Given the description of an element on the screen output the (x, y) to click on. 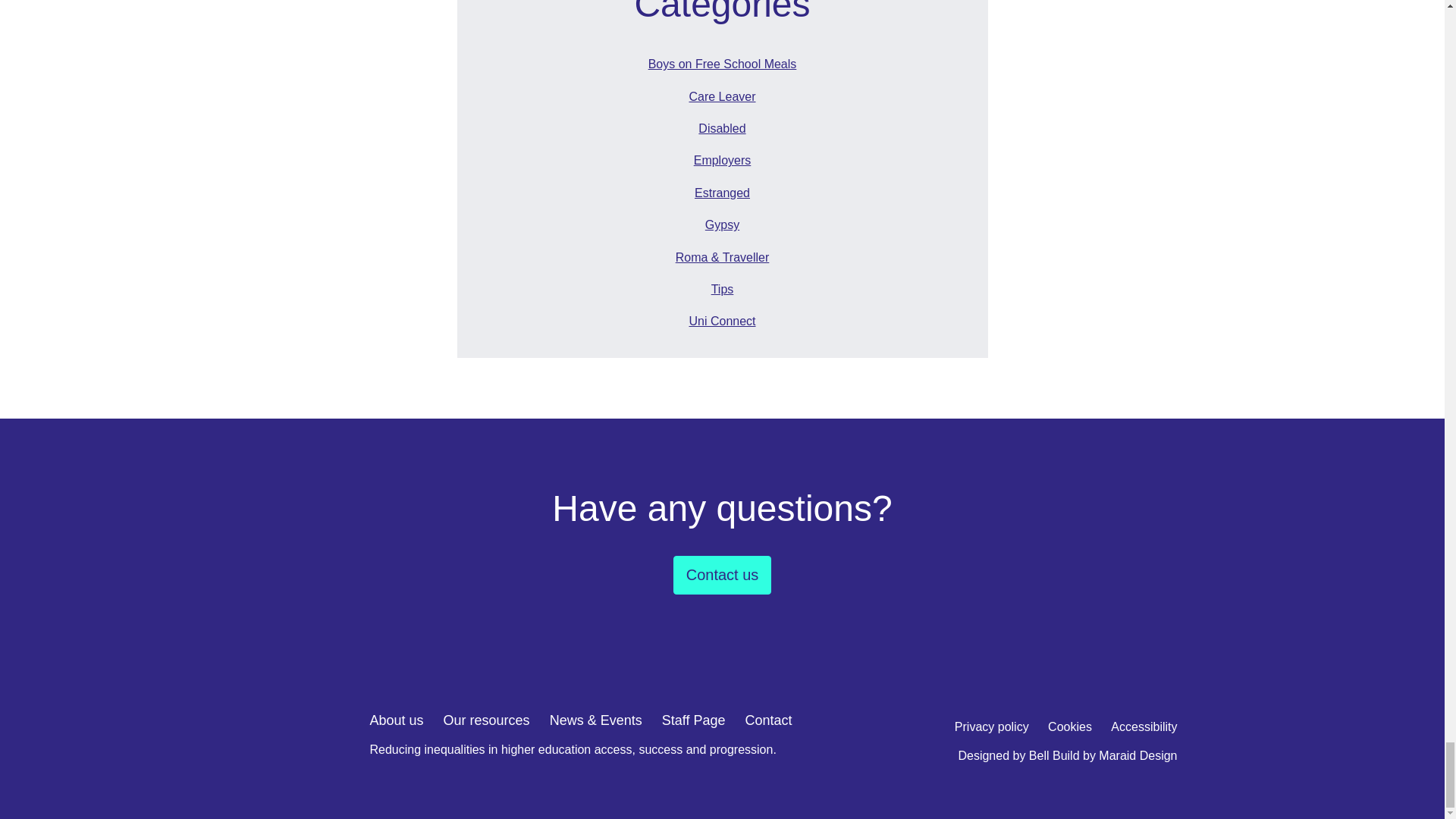
Disabled (721, 128)
Boys on Free School Meals (721, 64)
Gypsy (721, 224)
Estranged (721, 192)
Care Leaver (721, 96)
Employers (721, 160)
Tips (721, 289)
